Given the description of an element on the screen output the (x, y) to click on. 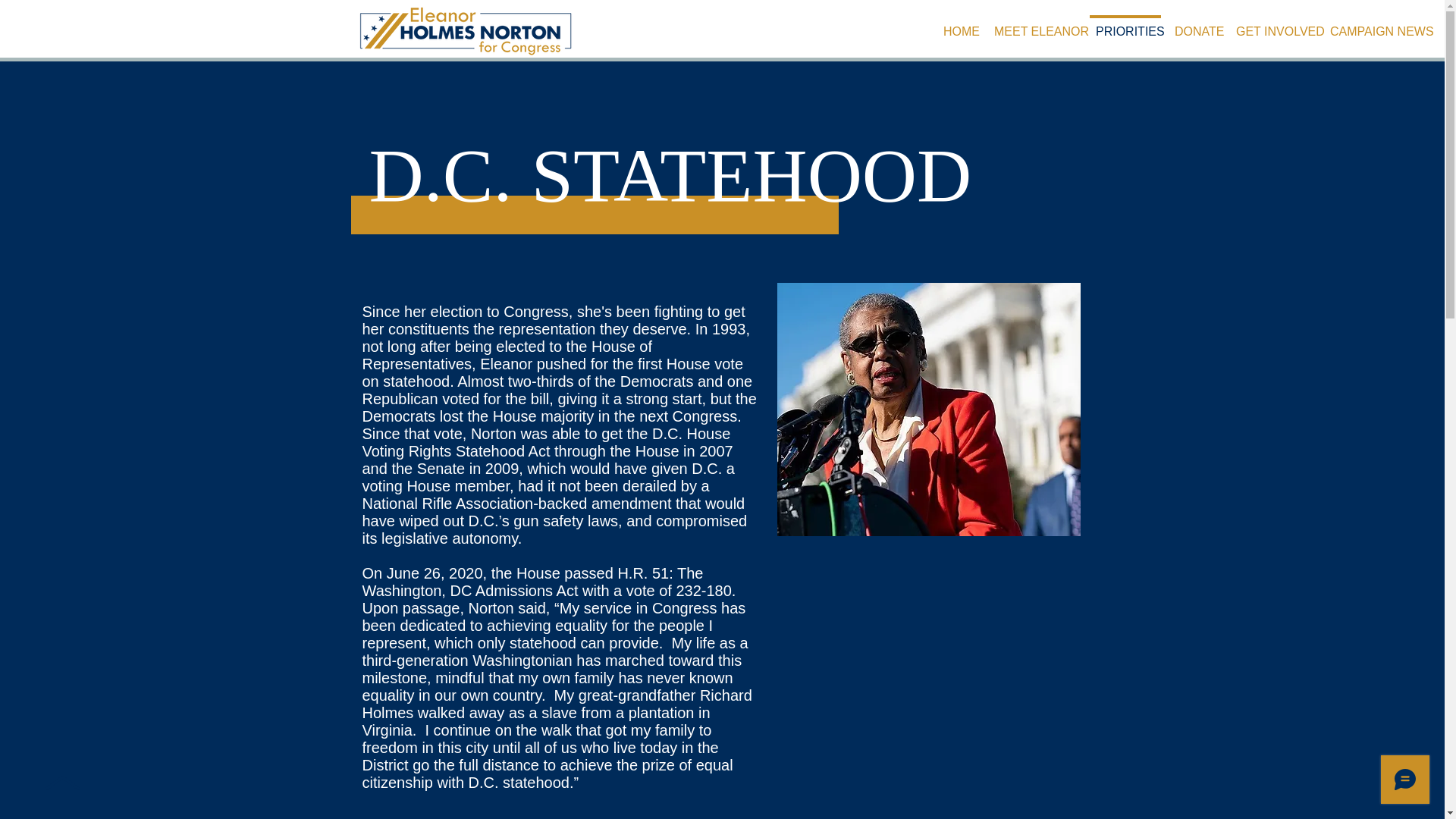
DONATE (1194, 24)
PRIORITIES (1125, 24)
CAMPAIGN NEWS (1374, 24)
MEET ELEANOR (1035, 24)
HOME (958, 24)
GET INVOLVED (1272, 24)
